Given the description of an element on the screen output the (x, y) to click on. 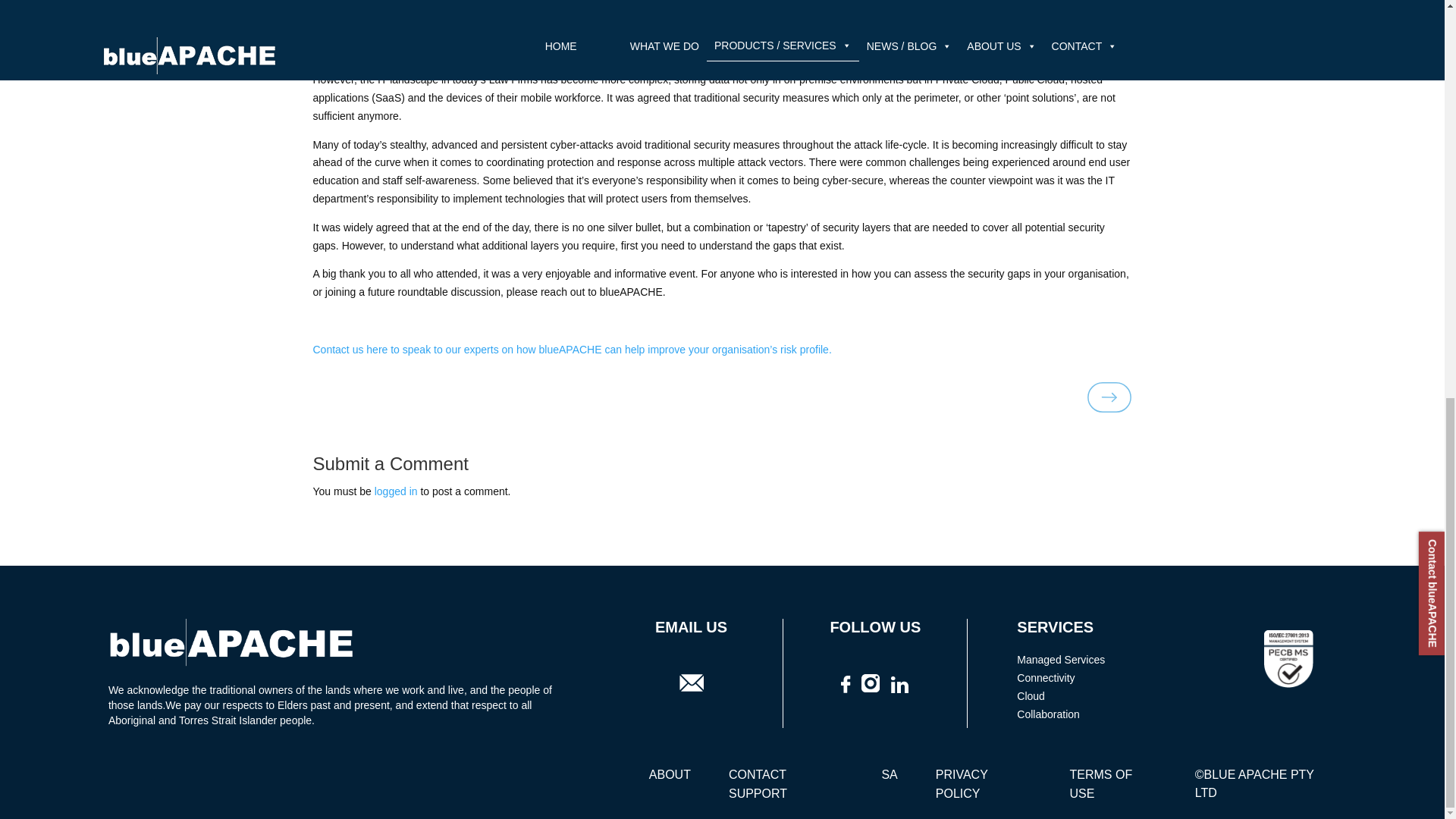
Next Post (1108, 408)
